Given the description of an element on the screen output the (x, y) to click on. 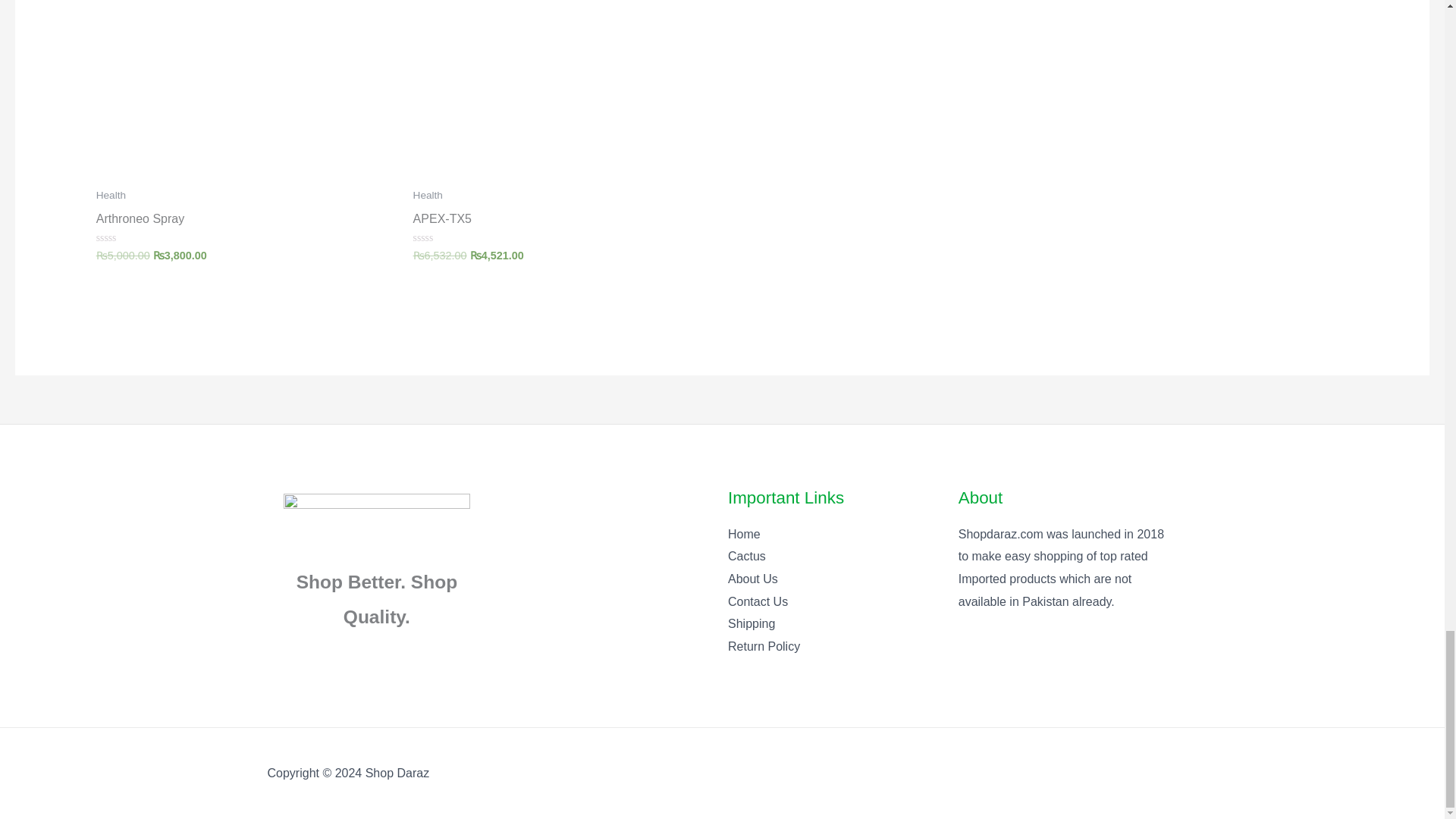
About Us (752, 578)
Cactus (746, 555)
APEX-TX5 (563, 222)
Arthroneo Spray (246, 222)
Home (744, 533)
